Given the description of an element on the screen output the (x, y) to click on. 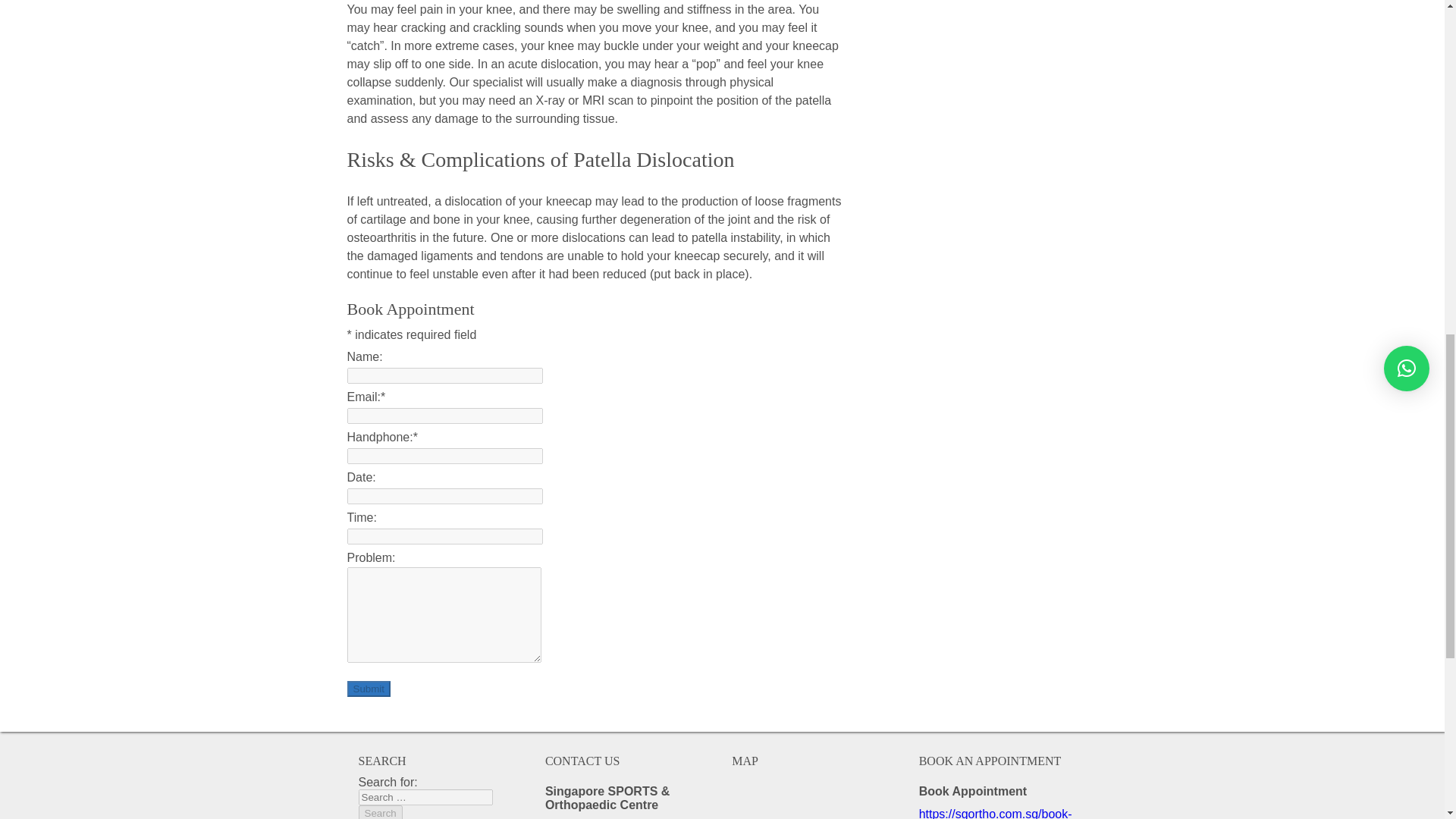
Search (379, 812)
Search (379, 812)
Search (379, 812)
Submit (368, 688)
Submit (368, 688)
